Given the description of an element on the screen output the (x, y) to click on. 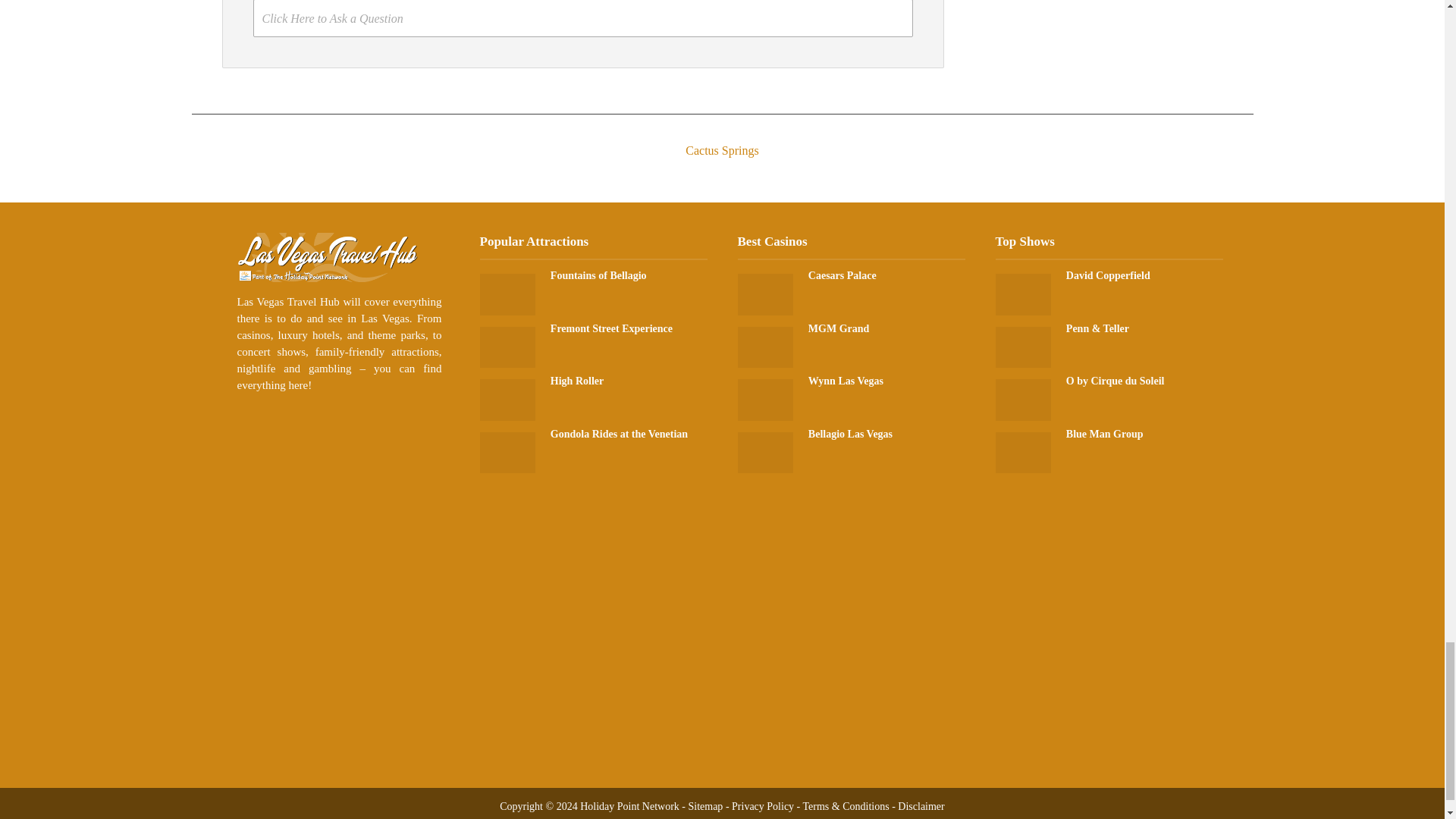
Cactus Springs (721, 136)
